Given the description of an element on the screen output the (x, y) to click on. 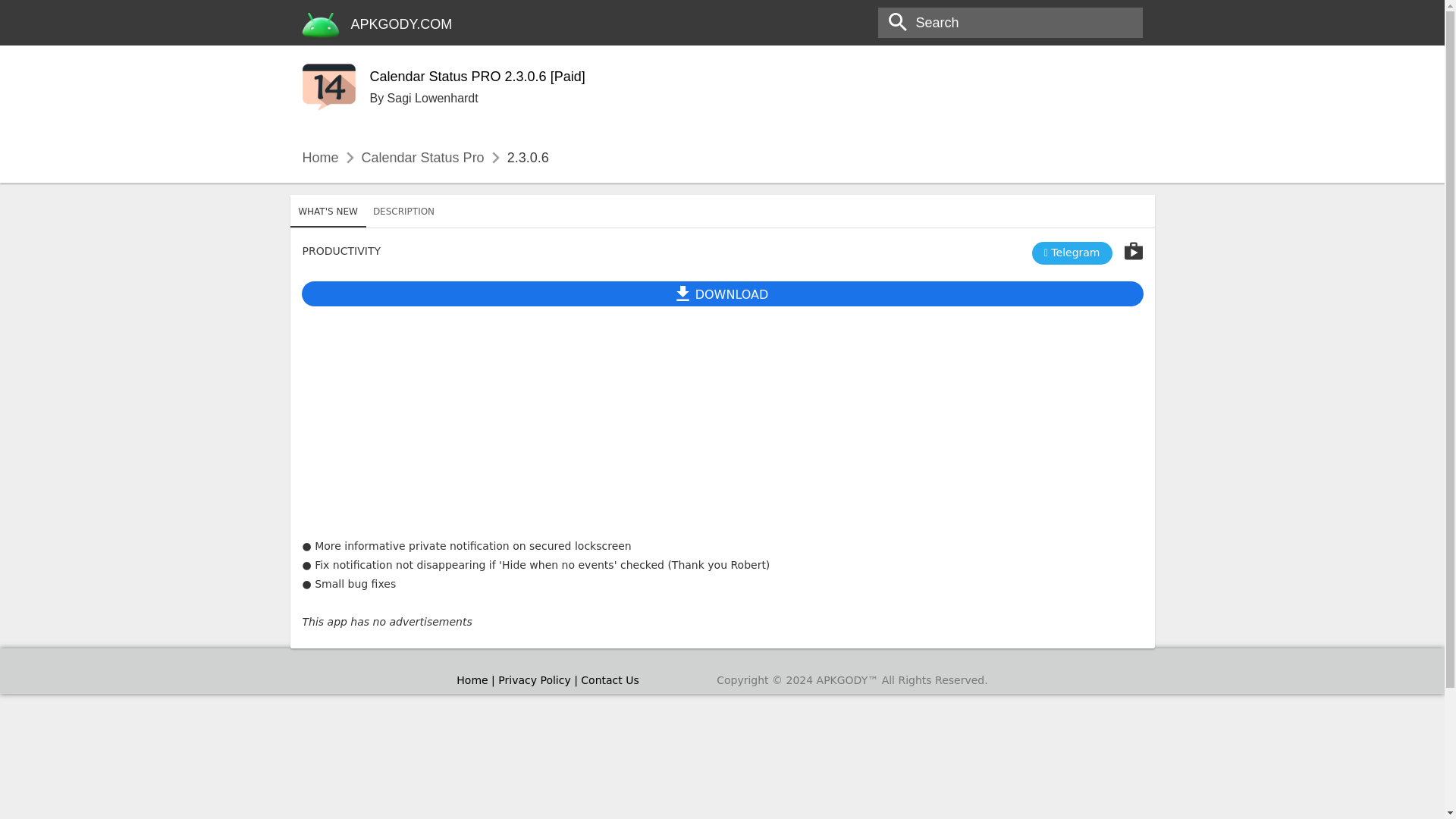
Calendar Status Pro (422, 157)
Home (319, 157)
APKGODY.COM (401, 23)
WHAT'S NEW (327, 211)
Contact Us (609, 680)
APKGODY.COM (401, 23)
GO (18, 13)
PRODUCTIVITY (340, 250)
Telegram (1072, 252)
DOWNLOAD (721, 217)
DESCRIPTION (721, 293)
